Given the description of an element on the screen output the (x, y) to click on. 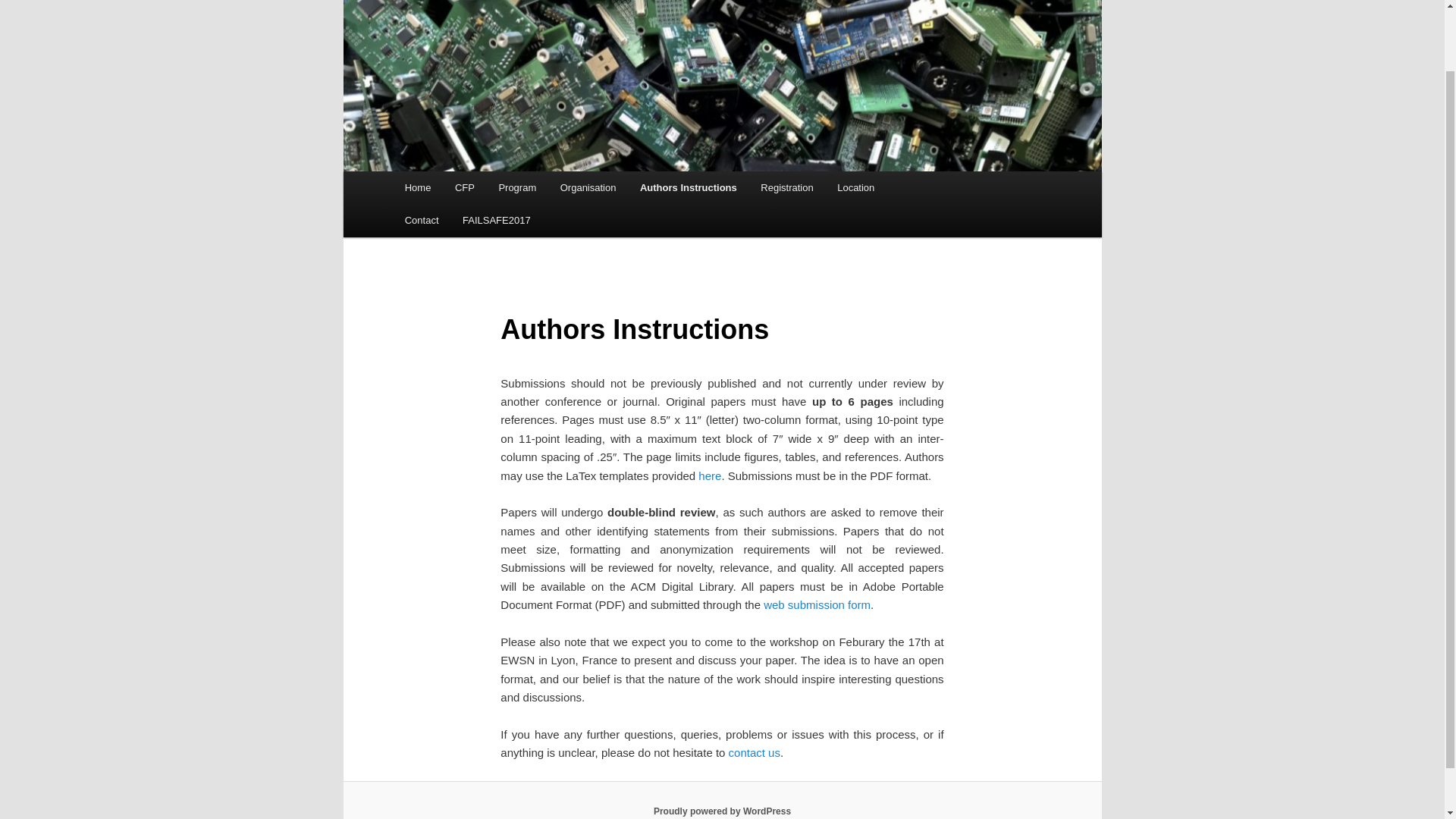
Contact (421, 219)
FAILSAFE2017 (495, 219)
Proudly powered by WordPress (721, 810)
web submission form (816, 604)
Program (517, 187)
CFP (464, 187)
Location (855, 187)
FAILSAFE 2020 (483, 10)
Organisation (587, 187)
here (709, 475)
Authors Instructions (687, 187)
Semantic Personal Publishing Platform (721, 810)
contact us (754, 752)
Registration (787, 187)
Home (417, 187)
